Given the description of an element on the screen output the (x, y) to click on. 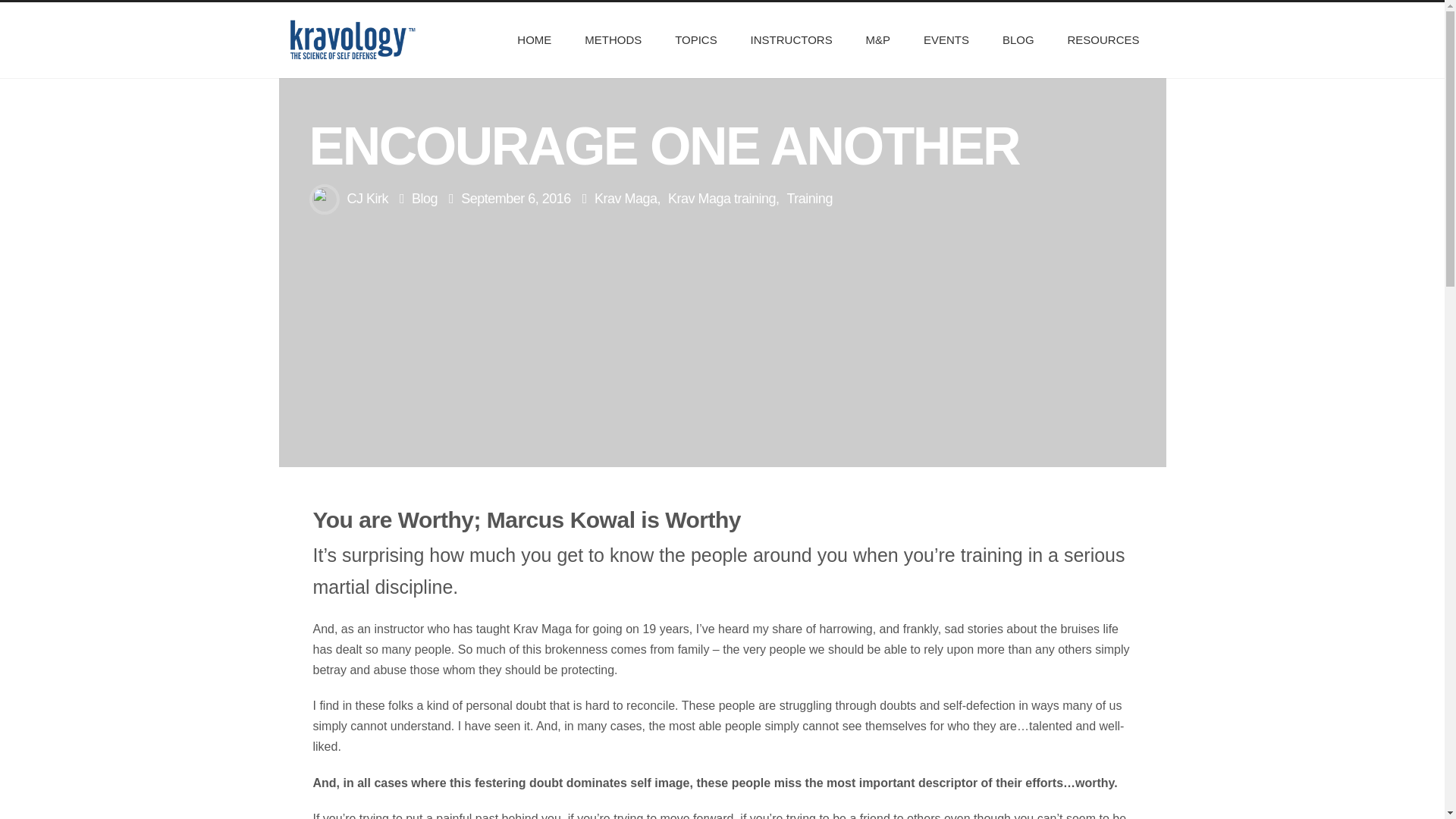
View all posts tagged with Krav Maga training (722, 198)
View all posts in Blog (425, 198)
Kravology (351, 39)
HOME (534, 39)
View all posts tagged with Krav Maga (626, 198)
METHODS (612, 39)
View all posts tagged with Training (809, 198)
TOPICS (695, 39)
September 6, 2016 (515, 198)
